Given the description of an element on the screen output the (x, y) to click on. 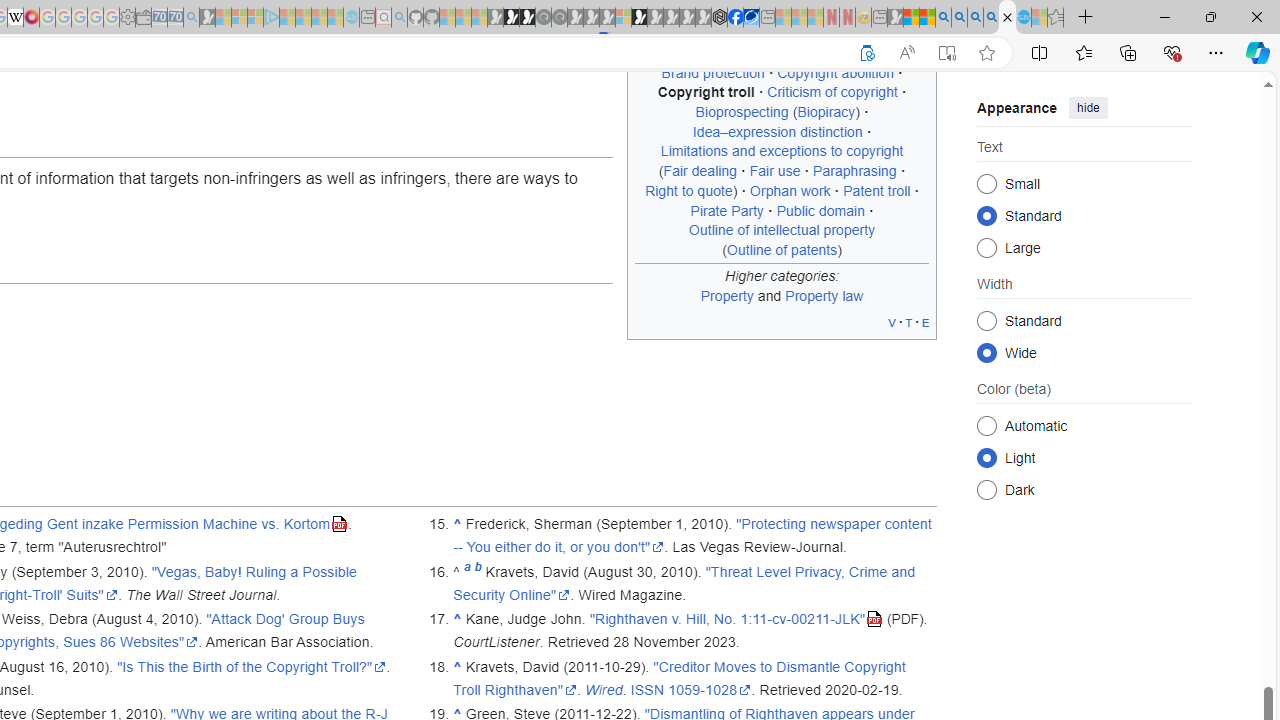
(Outline of patents) (782, 249)
Property (726, 295)
"Is This the Birth of the Copyright Troll?" (251, 666)
Right to quote) (691, 190)
1059-1028 (710, 689)
